Given the description of an element on the screen output the (x, y) to click on. 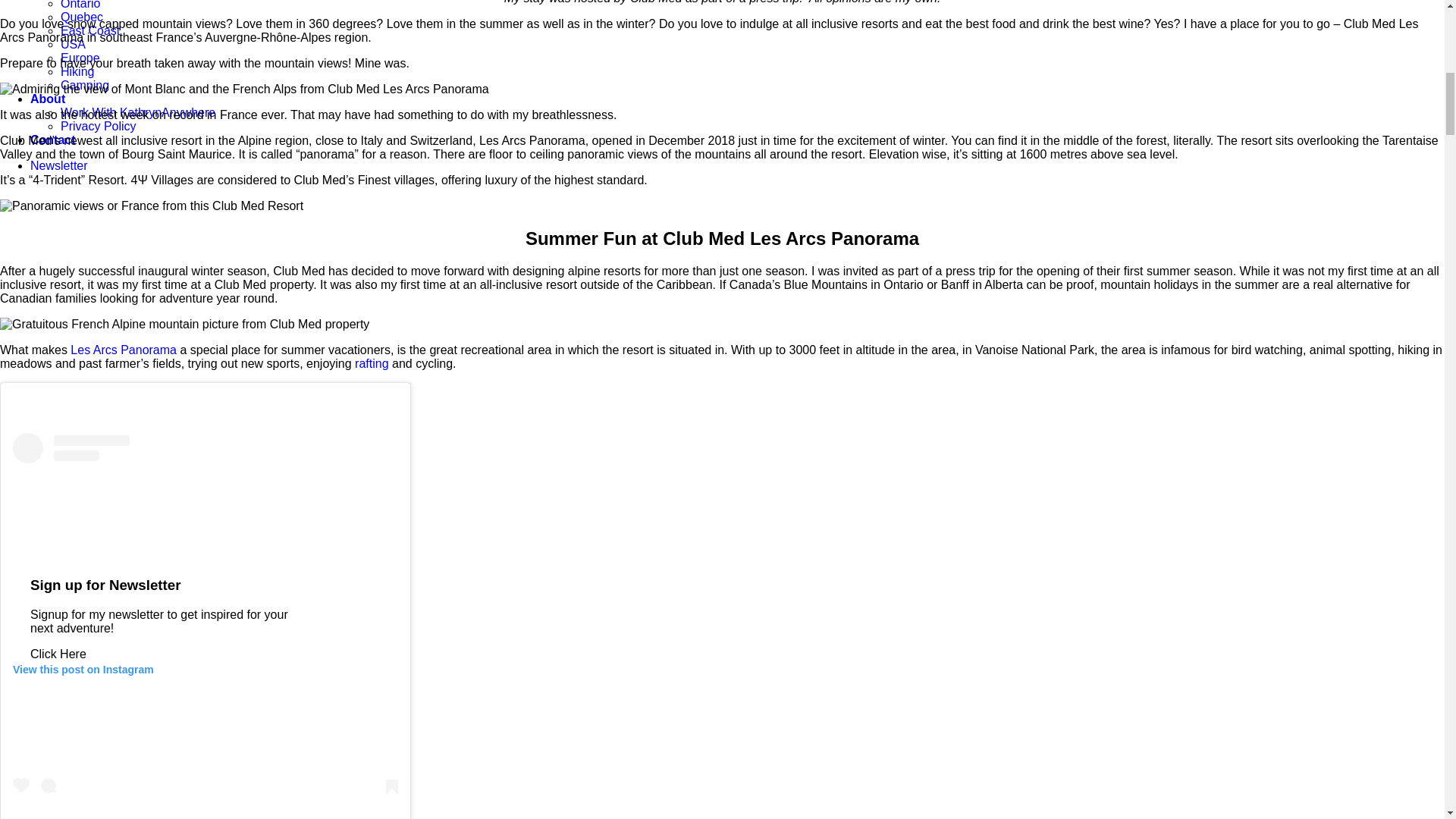
Privacy Policy (98, 125)
Europe (80, 57)
Work With KathrynAnywhere (138, 112)
Contact (52, 139)
About (47, 98)
USA (73, 43)
Quebec (82, 16)
Ontario (80, 4)
Camping (85, 84)
East Coast (90, 30)
